Given the description of an element on the screen output the (x, y) to click on. 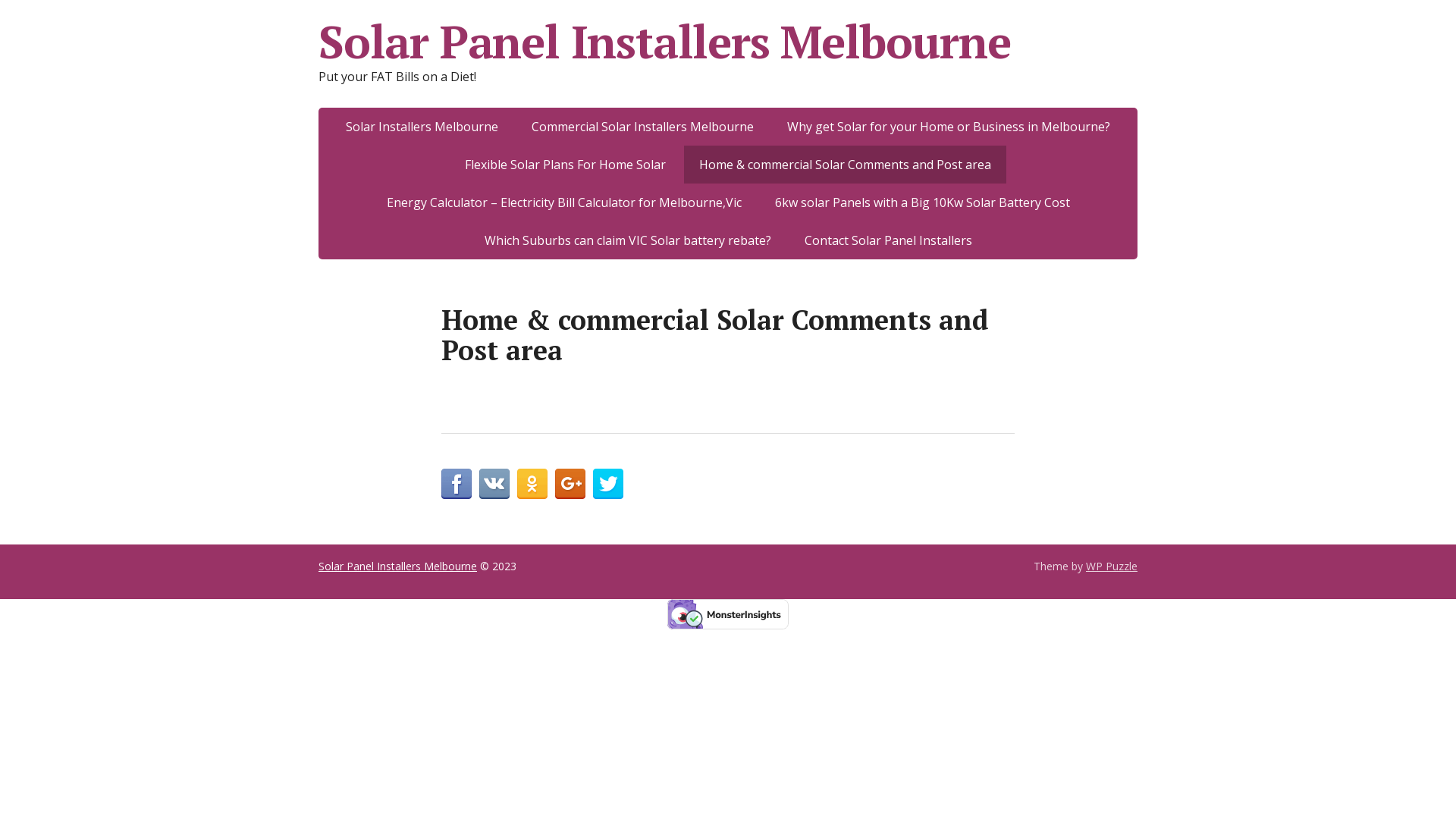
Verified by MonsterInsights Element type: hover (727, 614)
Commercial Solar Installers Melbourne Element type: text (642, 126)
Share in VK Element type: hover (494, 483)
Solar Panel Installers Melbourne Element type: text (727, 41)
Flexible Solar Plans For Home Solar Element type: text (564, 164)
Contact Solar Panel Installers Element type: text (887, 240)
Solar Panel Installers Melbourne Element type: text (397, 565)
WP Puzzle Element type: text (1111, 565)
Share in OK Element type: hover (532, 483)
Why get Solar for your Home or Business in Melbourne? Element type: text (948, 126)
Which Suburbs can claim VIC Solar battery rebate? Element type: text (626, 240)
6kw solar Panels with a Big 10Kw Solar Battery Cost Element type: text (922, 202)
Share in Facebook Element type: hover (456, 483)
Solar Installers Melbourne Element type: text (421, 126)
Share in Google+ Element type: hover (570, 483)
Share in Twitter Element type: hover (608, 483)
